Given the description of an element on the screen output the (x, y) to click on. 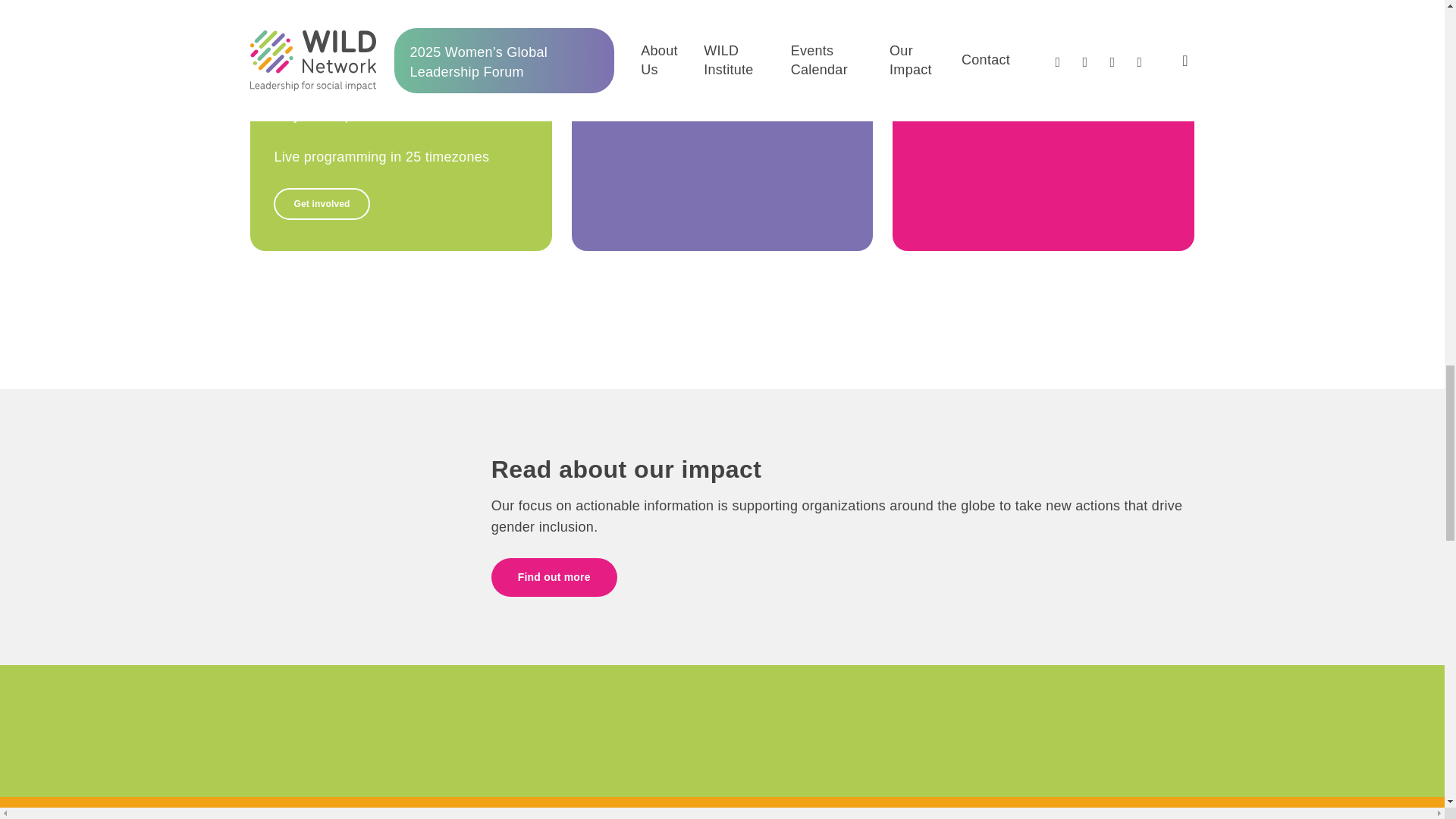
Get involved (321, 204)
